Given the description of an element on the screen output the (x, y) to click on. 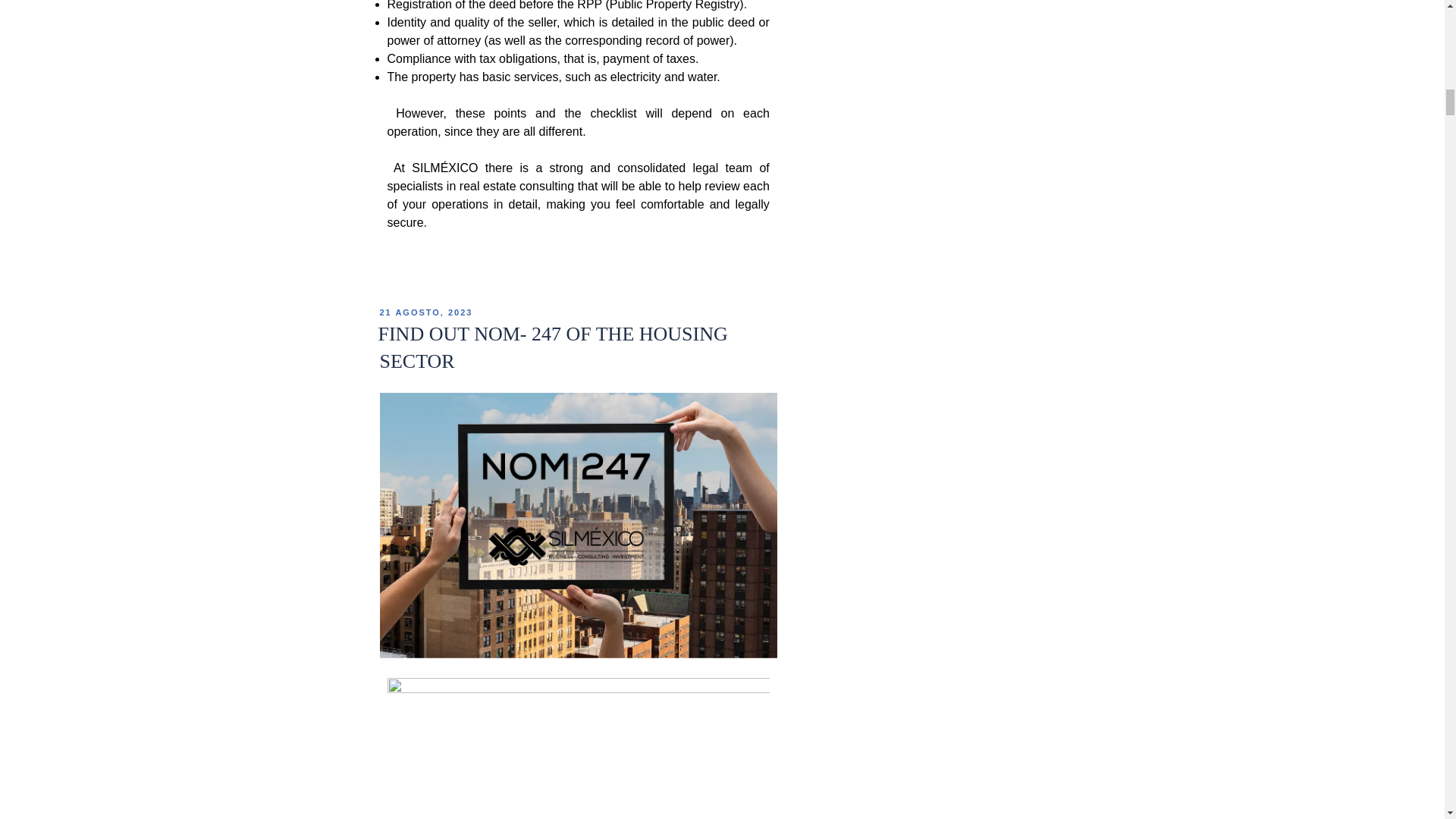
FIND OUT NOM- 247 OF THE HOUSING SECTOR (551, 347)
21 AGOSTO, 2023 (424, 311)
